Given the description of an element on the screen output the (x, y) to click on. 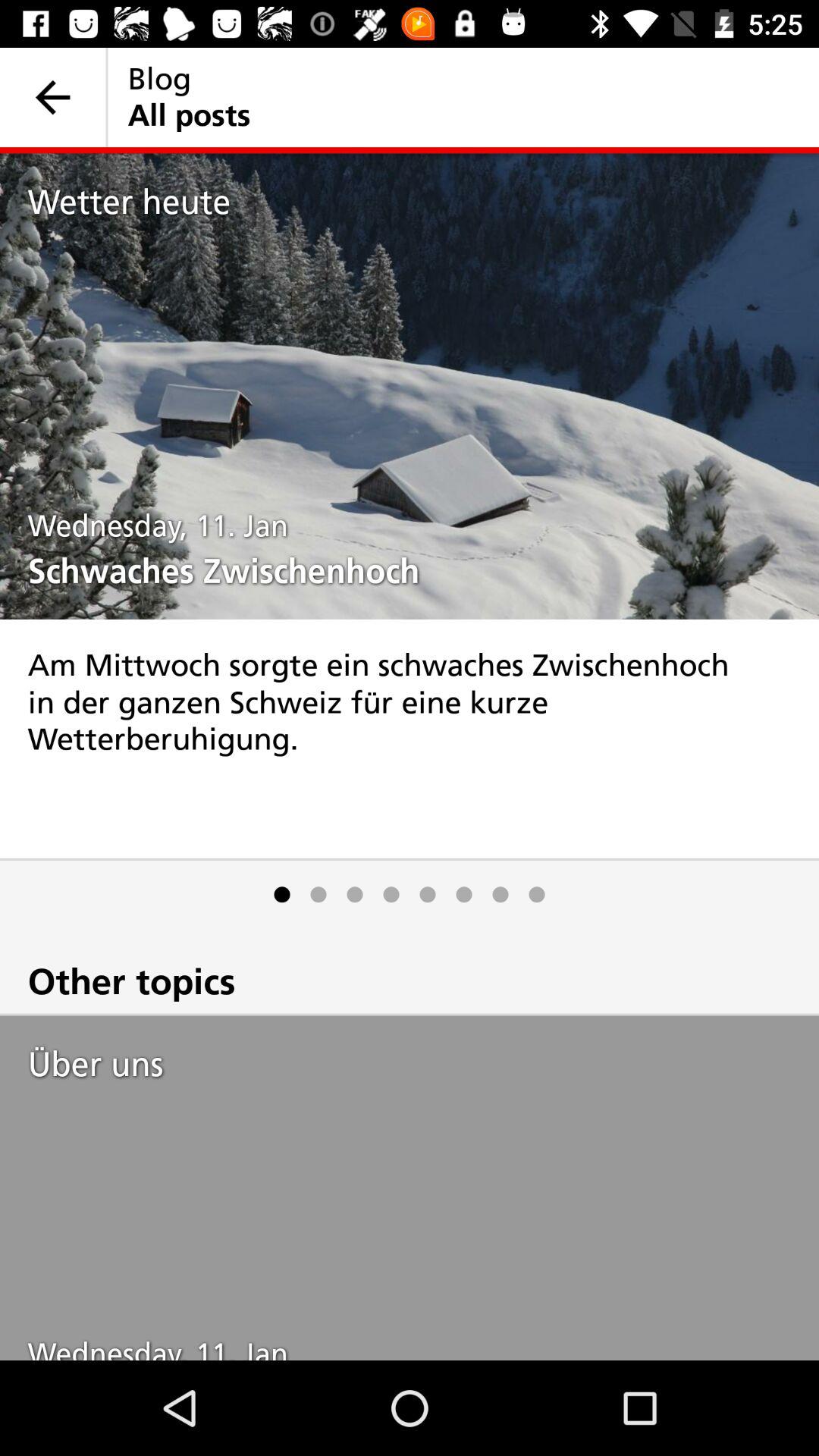
select item below the am mittwoch sorgte icon (318, 894)
